Given the description of an element on the screen output the (x, y) to click on. 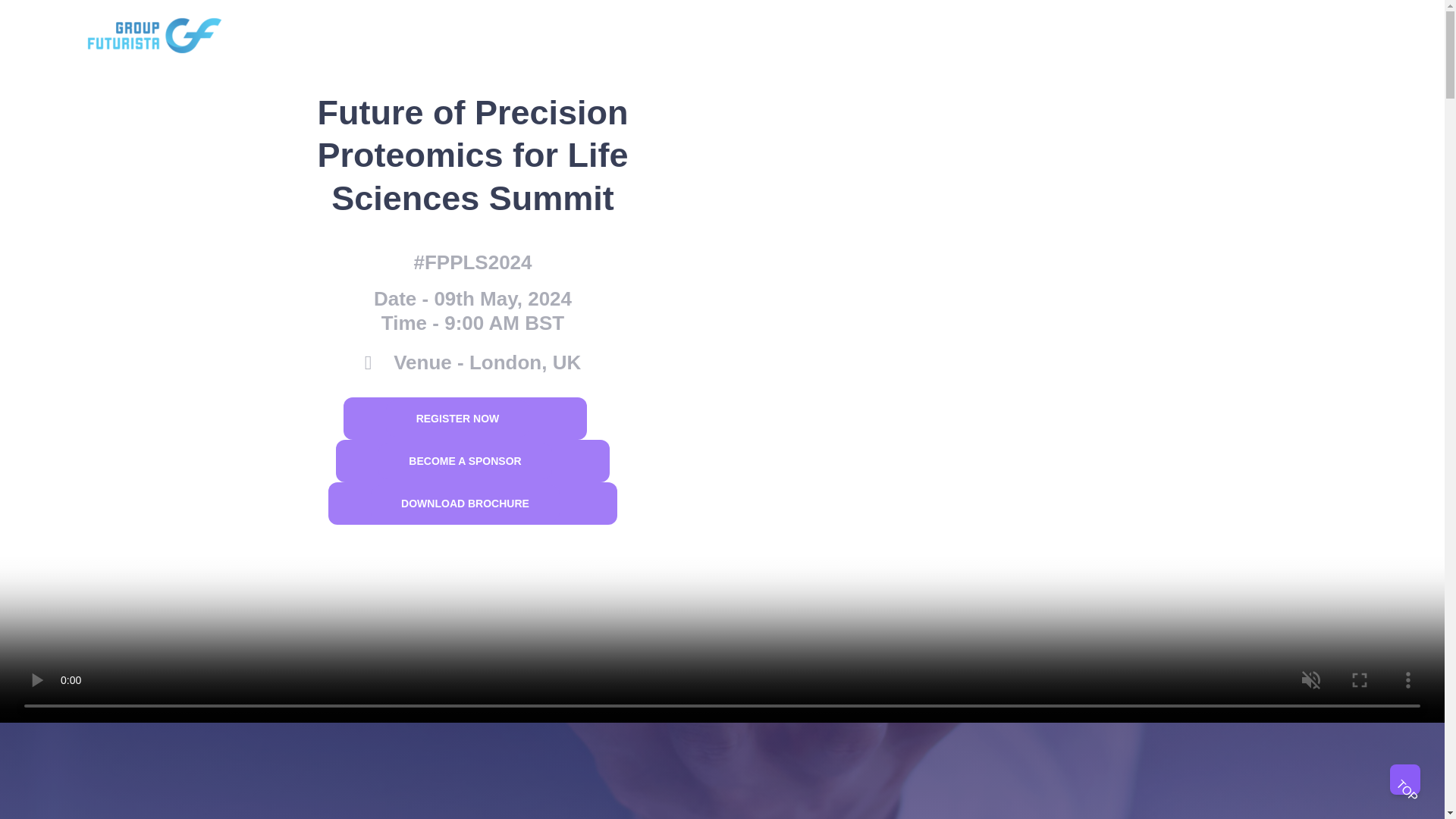
BECOME A SPONSOR (472, 460)
TOP (1405, 779)
Go to top (1405, 779)
BECOME A SPONSOR (464, 461)
DOWNLOAD BROCHURE (473, 503)
DOWNLOAD BROCHURE (465, 503)
REGISTER NOW (465, 418)
REGISTER NOW (457, 418)
